Given the description of an element on the screen output the (x, y) to click on. 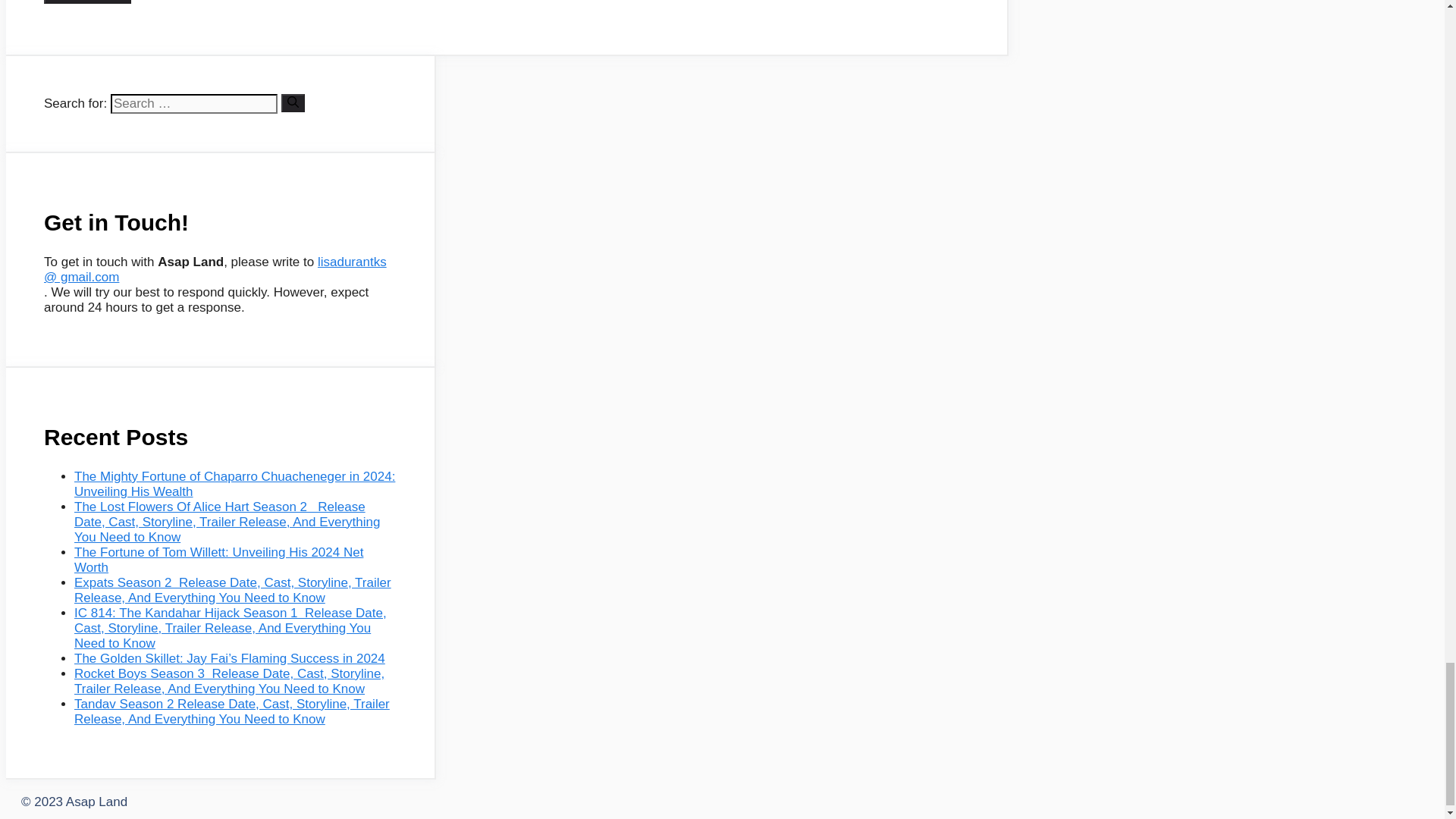
Post Comment (87, 2)
Search for: (194, 103)
Post Comment (87, 2)
The Fortune of Tom Willett: Unveiling His 2024 Net Worth (218, 559)
